Given the description of an element on the screen output the (x, y) to click on. 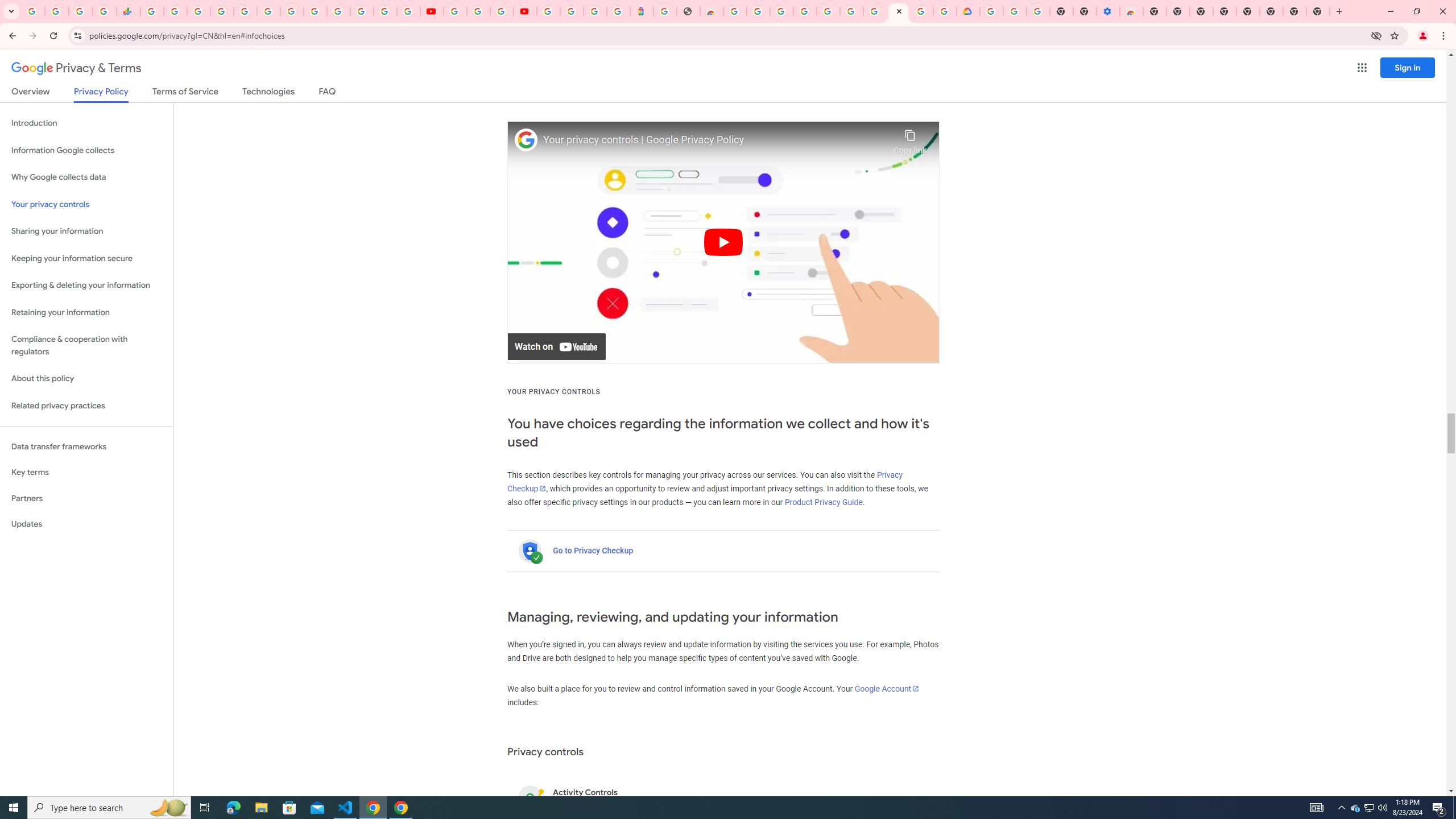
YouTube (454, 11)
New Tab (1155, 11)
Sign in - Google Accounts (221, 11)
Sign in - Google Accounts (338, 11)
Create your Google Account (921, 11)
Turn cookies on or off - Computer - Google Account Help (1038, 11)
Your privacy controls | Google Privacy Policy (715, 140)
